Given the description of an element on the screen output the (x, y) to click on. 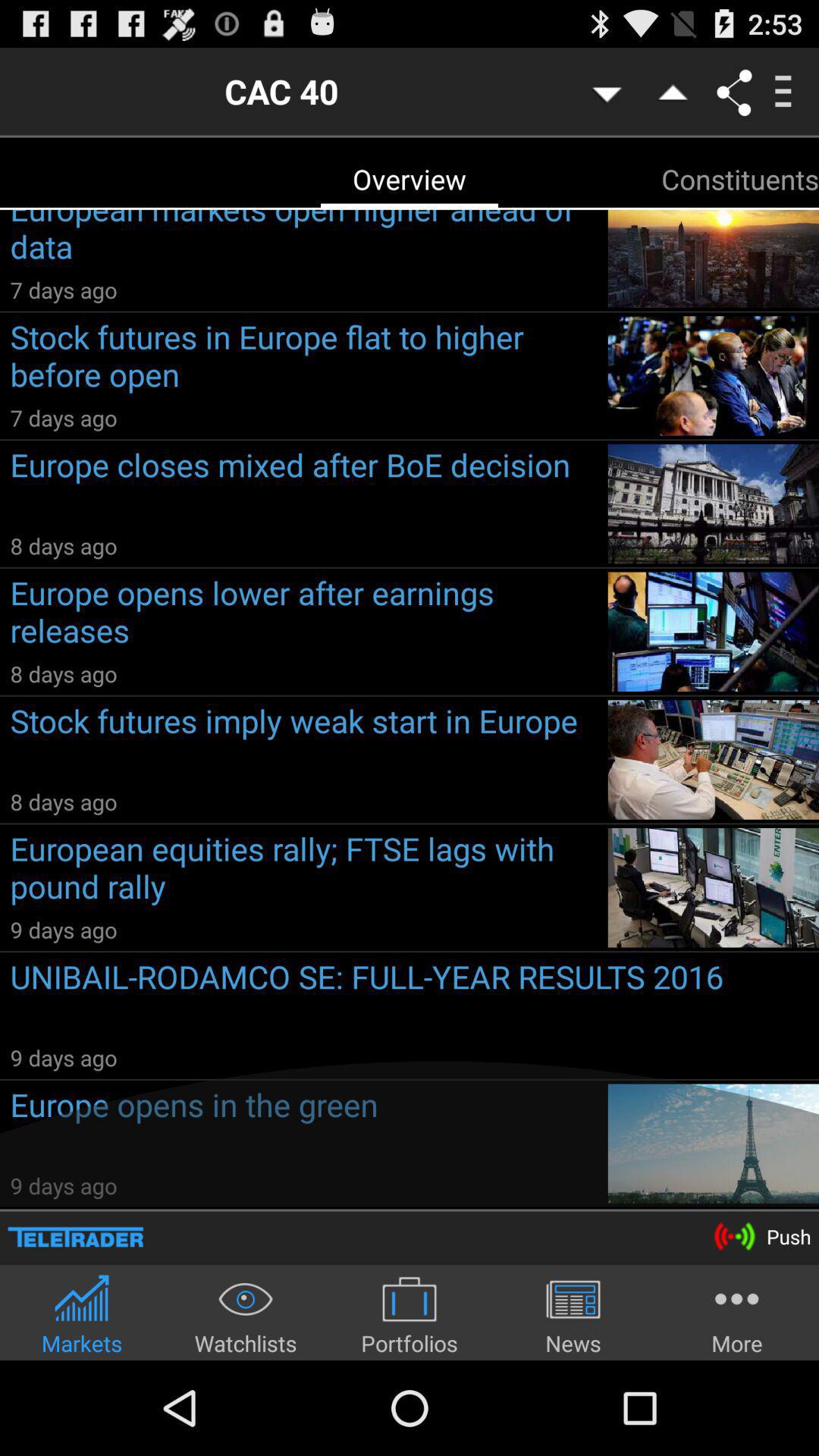
swipe until europe closes mixed icon (303, 486)
